Given the description of an element on the screen output the (x, y) to click on. 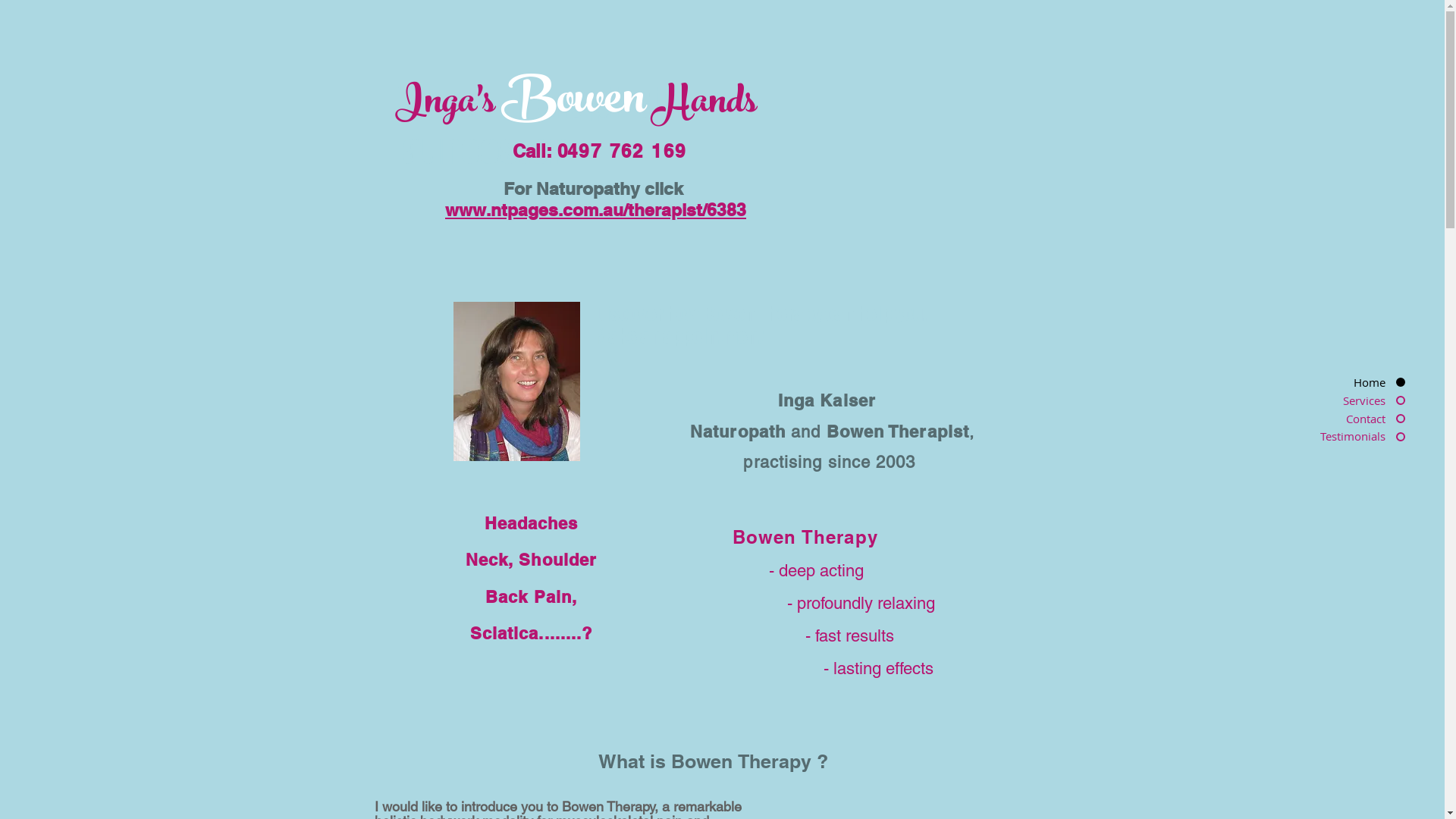
Contact Element type: text (1342, 418)
Services Element type: text (1342, 400)
For Naturopathy click  Element type: text (595, 187)
Call: 0497 762 169  Element type: text (601, 150)
www.ntpages.com.au/therapist/6383 Element type: text (595, 209)
Inga' Element type: text (437, 104)
Home Element type: text (1342, 382)
Bowen Element type: text (572, 103)
Hands Element type: text (704, 104)
s Element type: text (488, 104)
Inga wil show you how Bowen Theapy can help you. Element type: hover (516, 381)
Testimonials Element type: text (1342, 435)
